Given the description of an element on the screen output the (x, y) to click on. 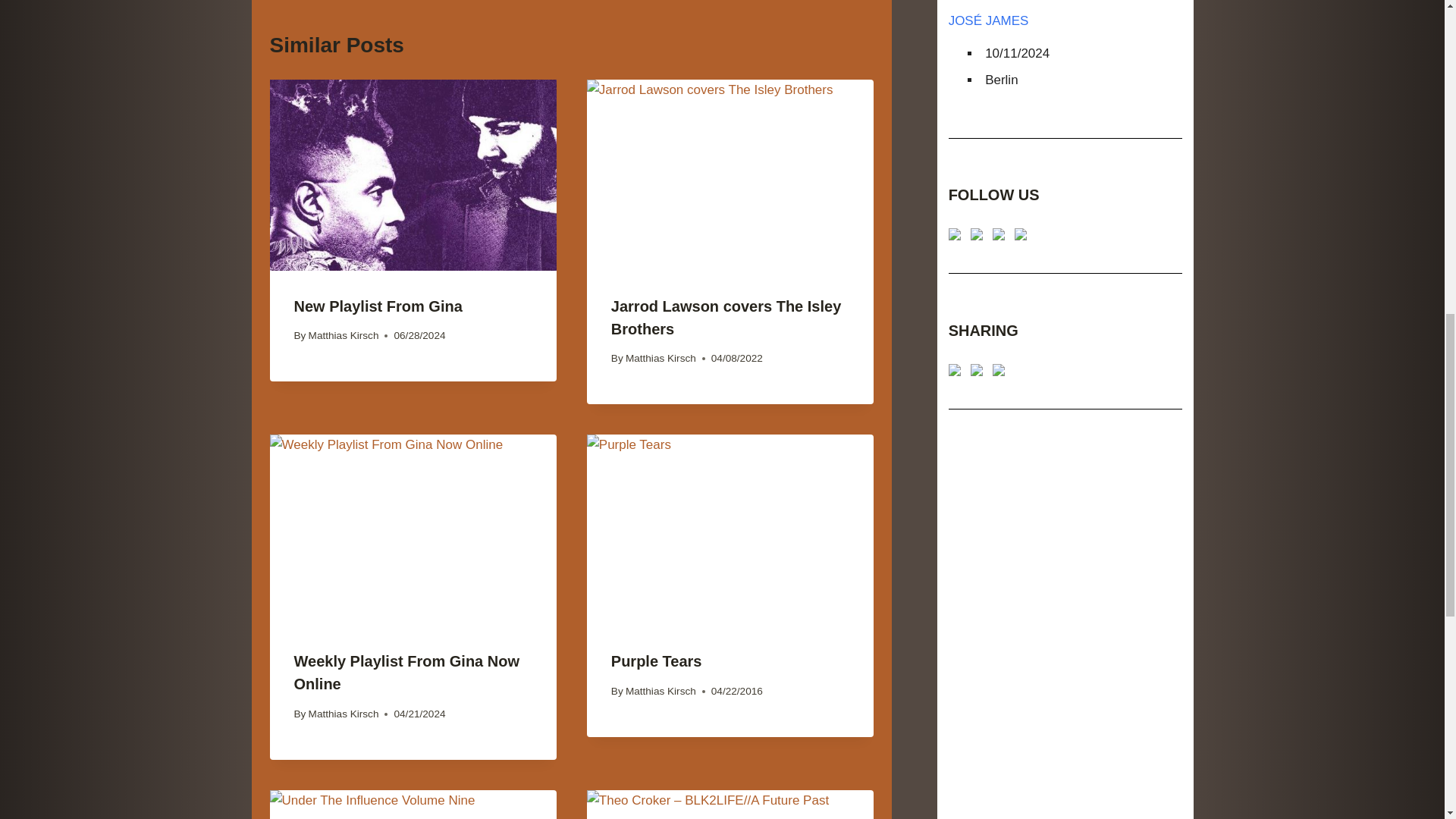
Find us on Linkedin (998, 234)
Follow us (957, 237)
New Playlist From Gina (378, 306)
www.ginalovesjazz.com - the jazz magazine by matthias kirsch (954, 369)
Share on Linkedin (998, 369)
Find us on Linkedin (1001, 237)
Follow us (954, 234)
Follow us on Twitter (979, 237)
Matthias Kirsch (660, 357)
Follow us on Twitter (976, 234)
www.ginalovesjazz.com - the jazz magazine by matthias kirsch (957, 372)
Matthias Kirsch (343, 713)
Purple Tears (656, 660)
Matthias Kirsch (660, 690)
Weekly Playlist From Gina Now Online (406, 672)
